Given the description of an element on the screen output the (x, y) to click on. 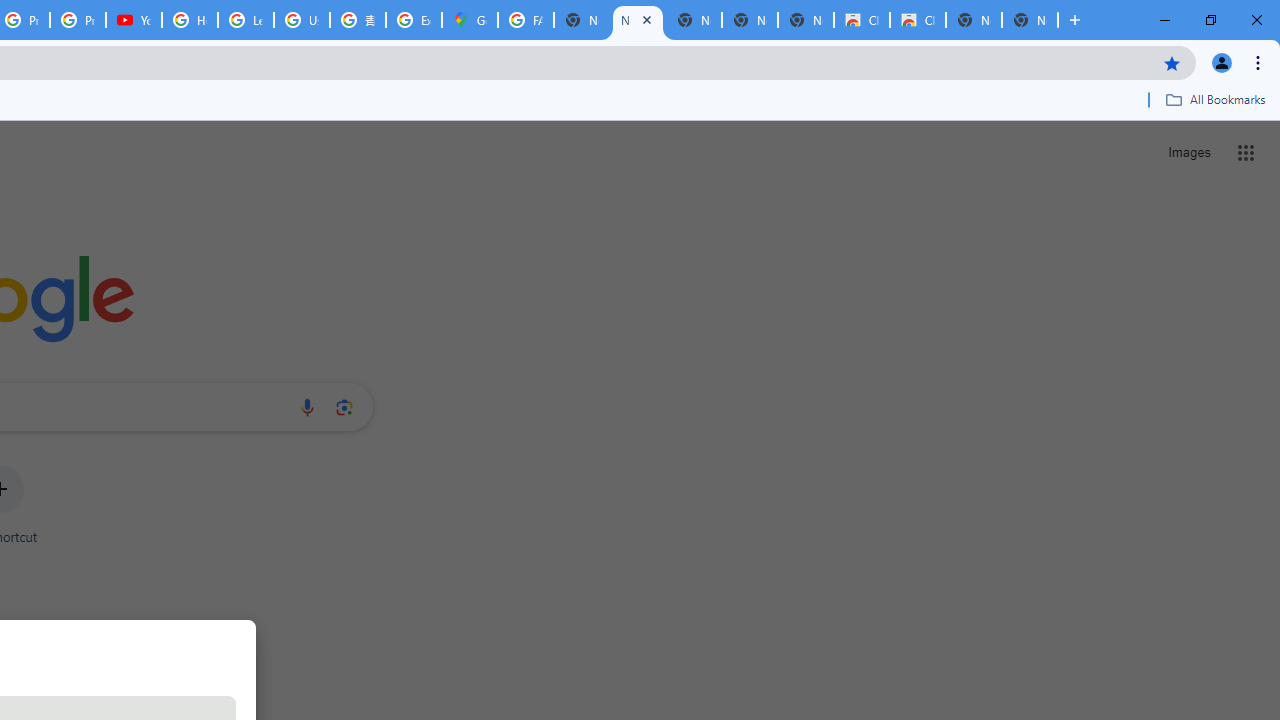
YouTube (134, 20)
How Chrome protects your passwords - Google Chrome Help (189, 20)
Explore new street-level details - Google Maps Help (413, 20)
